Given the description of an element on the screen output the (x, y) to click on. 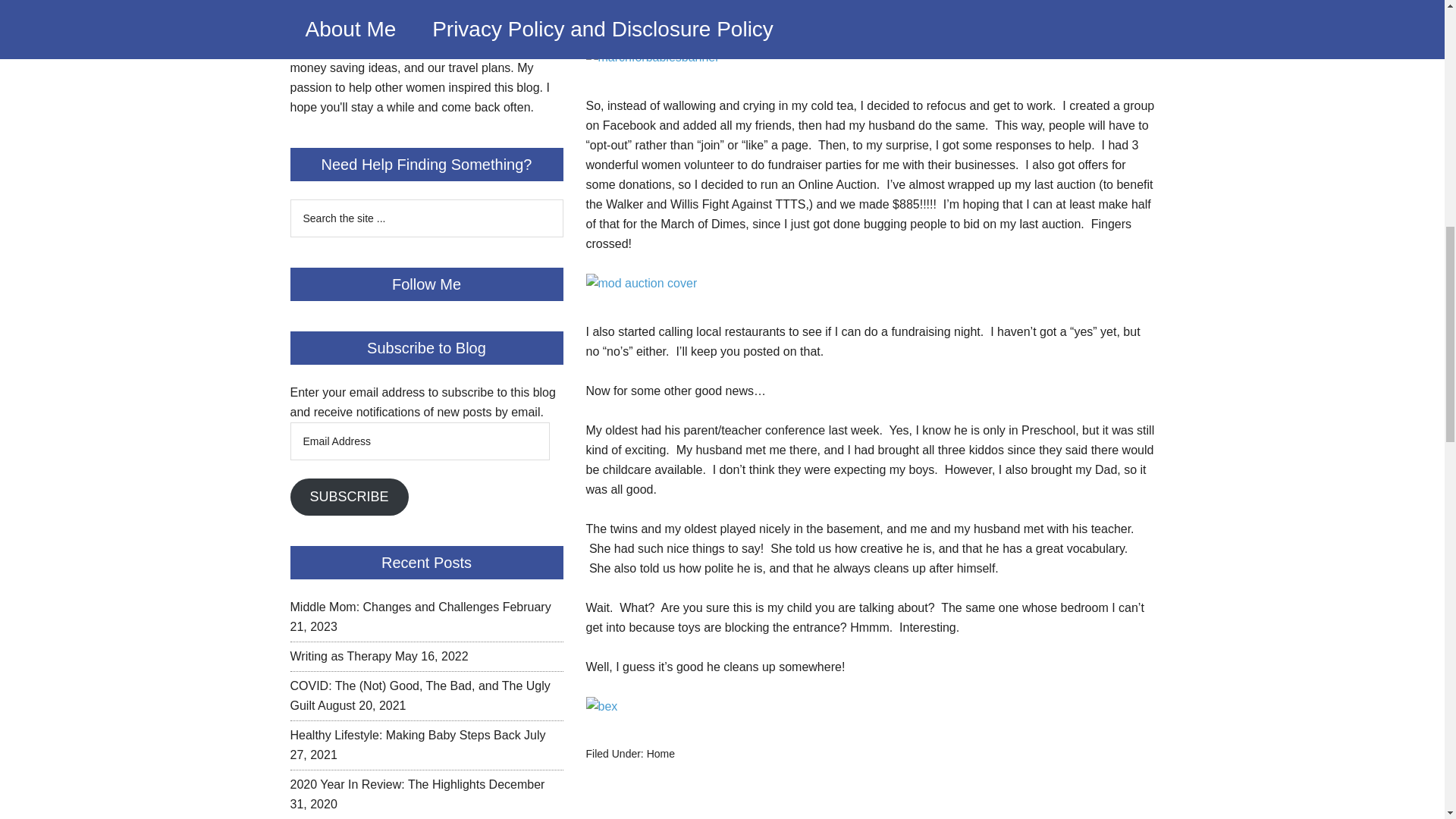
2020 Year In Review: The Highlights (386, 784)
Home (660, 753)
Healthy Lifestyle: Making Baby Steps Back (404, 735)
SUBSCRIBE (348, 496)
Middle Mom: Changes and Challenges (394, 606)
Writing as Therapy (340, 656)
